Given the description of an element on the screen output the (x, y) to click on. 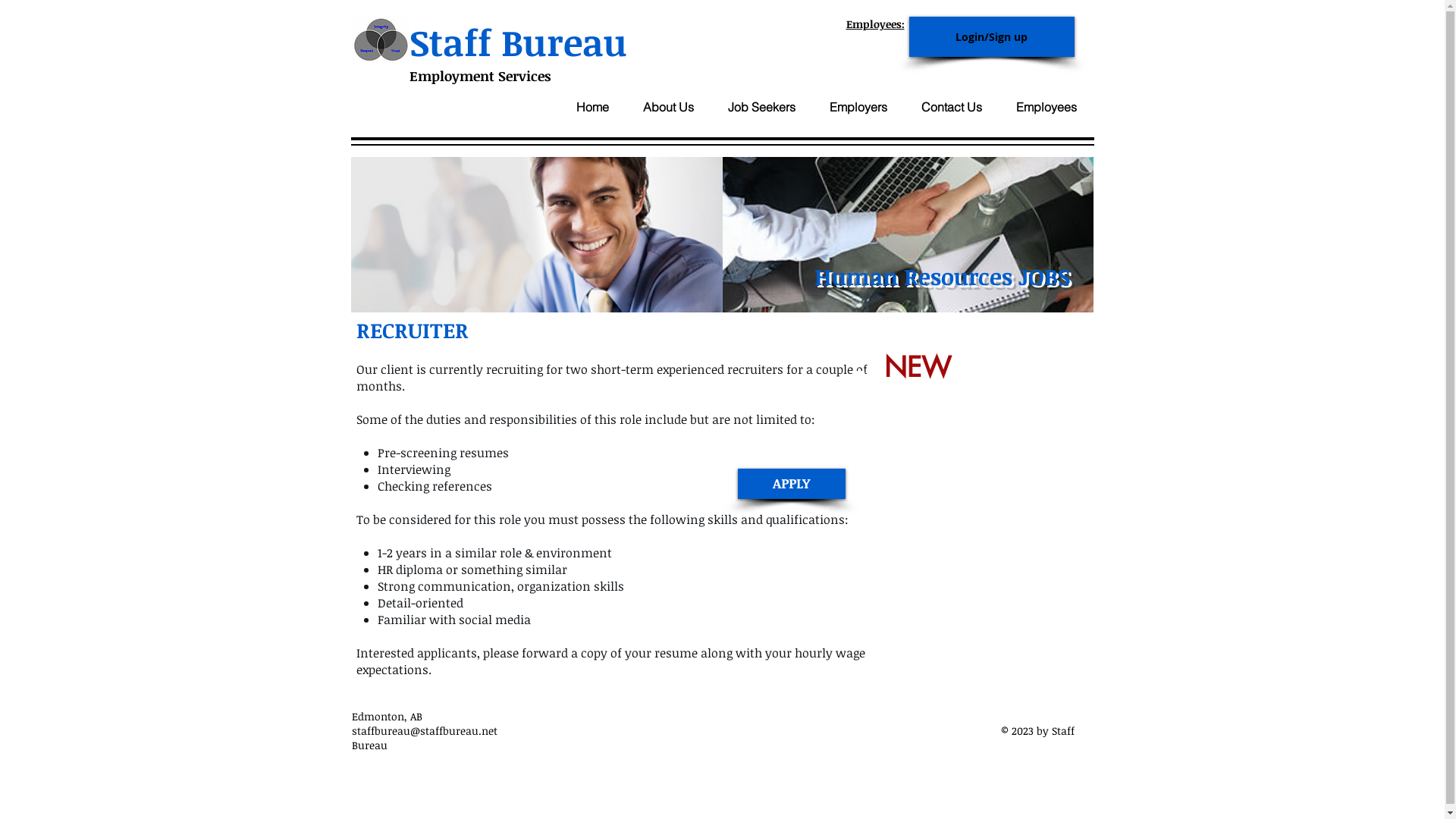
Login/Sign up Element type: text (991, 36)
About Us Element type: text (668, 106)
APPLY Element type: text (790, 483)
Home Element type: text (591, 106)
staffbureau@staffbureau.net Element type: text (424, 730)
Job Seekers Element type: text (761, 106)
Contact Us Element type: text (950, 106)
Employers Element type: text (858, 106)
Employees Element type: text (1046, 106)
